Given the description of an element on the screen output the (x, y) to click on. 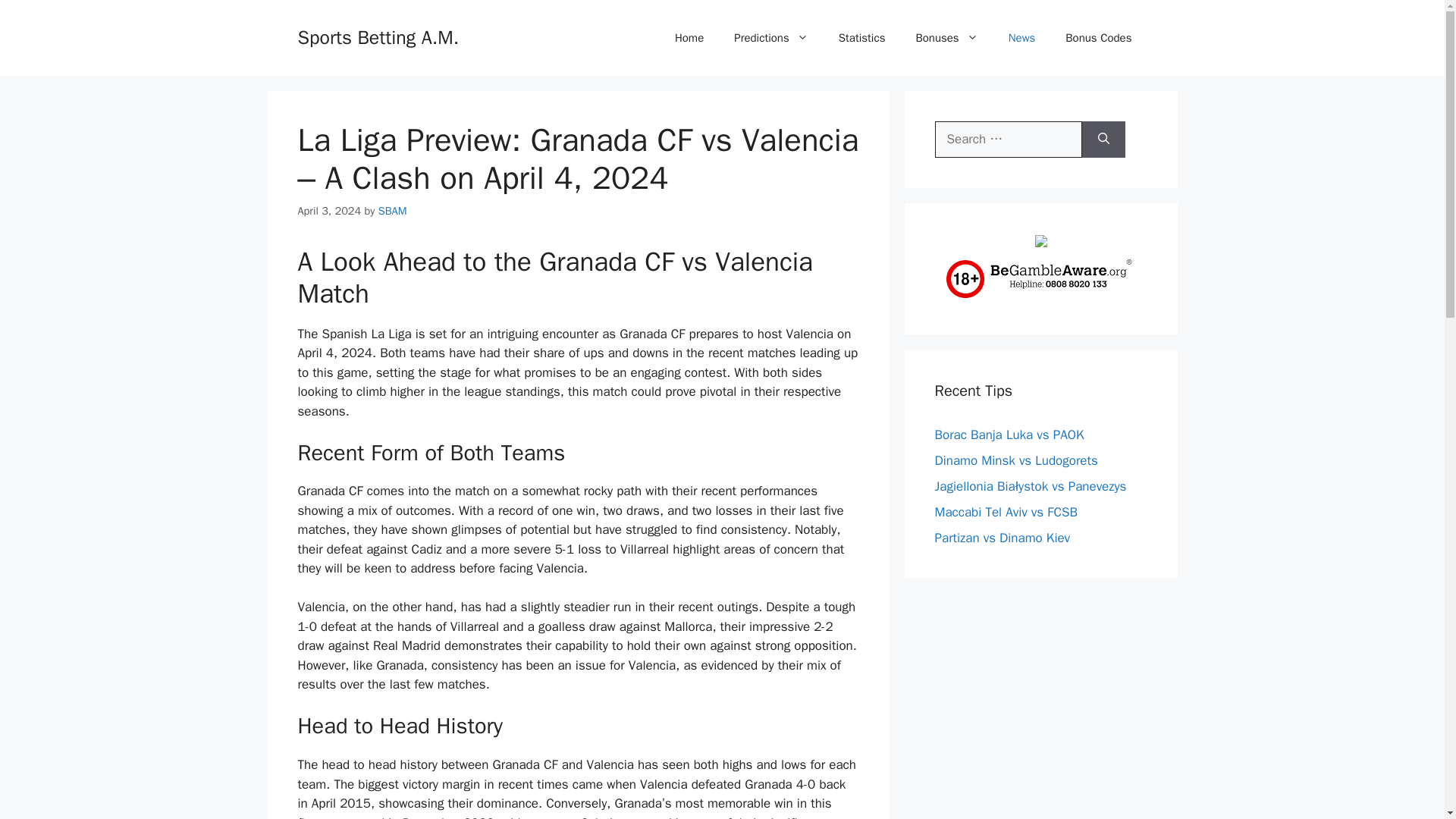
Home (689, 37)
Statistics (862, 37)
Predictions (770, 37)
SBAM (392, 210)
News (1021, 37)
Bonus Codes (1098, 37)
Search for: (1007, 139)
Borac Banja Luka vs PAOK (1008, 433)
Sports Betting A.M. (377, 37)
Maccabi Tel Aviv vs FCSB (1005, 511)
View all posts by SBAM (392, 210)
Bonuses (945, 37)
Dinamo Minsk vs Ludogorets (1015, 459)
